Given the description of an element on the screen output the (x, y) to click on. 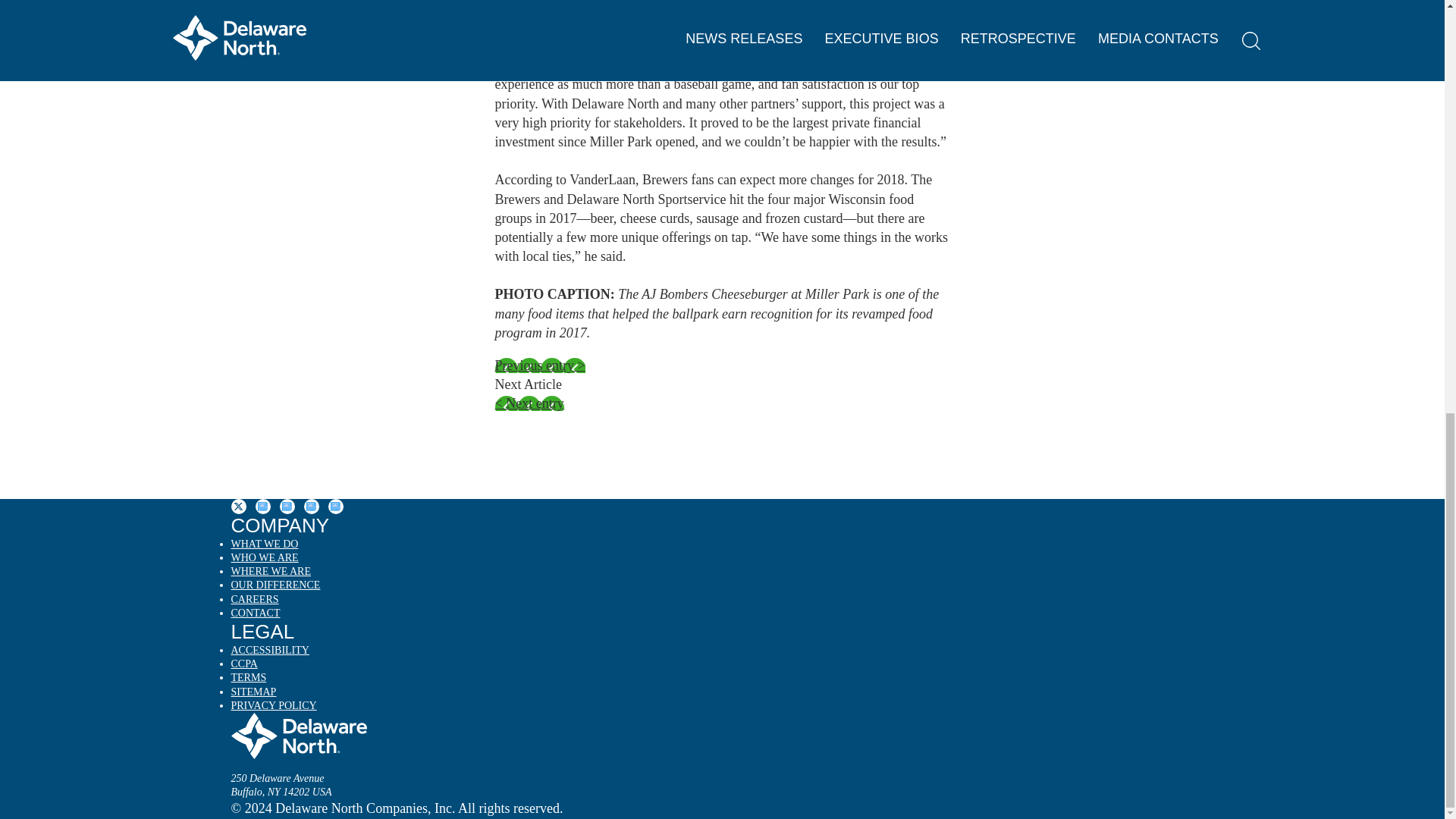
WHERE WE ARE (270, 572)
WHO WE ARE (264, 558)
TERMS (248, 678)
CCPA (243, 664)
ACCESSIBILITY (269, 651)
SITEMAP (253, 693)
WHAT WE DO (264, 545)
OUR DIFFERENCE (275, 585)
CAREERS (254, 600)
PRIVACY POLICY (272, 706)
CONTACT (254, 613)
